Given the description of an element on the screen output the (x, y) to click on. 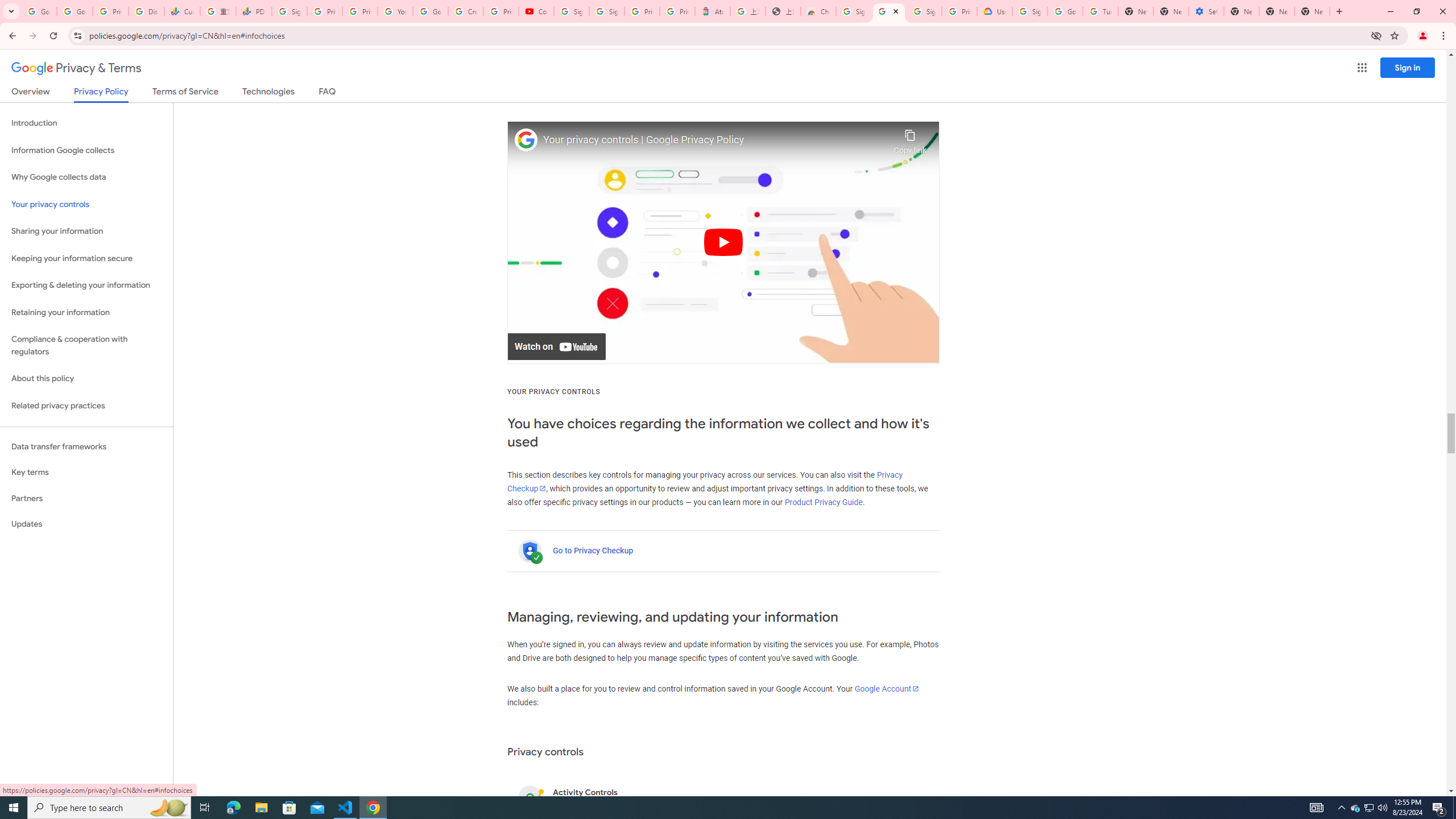
Settings - System (1205, 11)
Sign in - Google Accounts (288, 11)
Related privacy practices (86, 405)
New Tab (1312, 11)
